Given the description of an element on the screen output the (x, y) to click on. 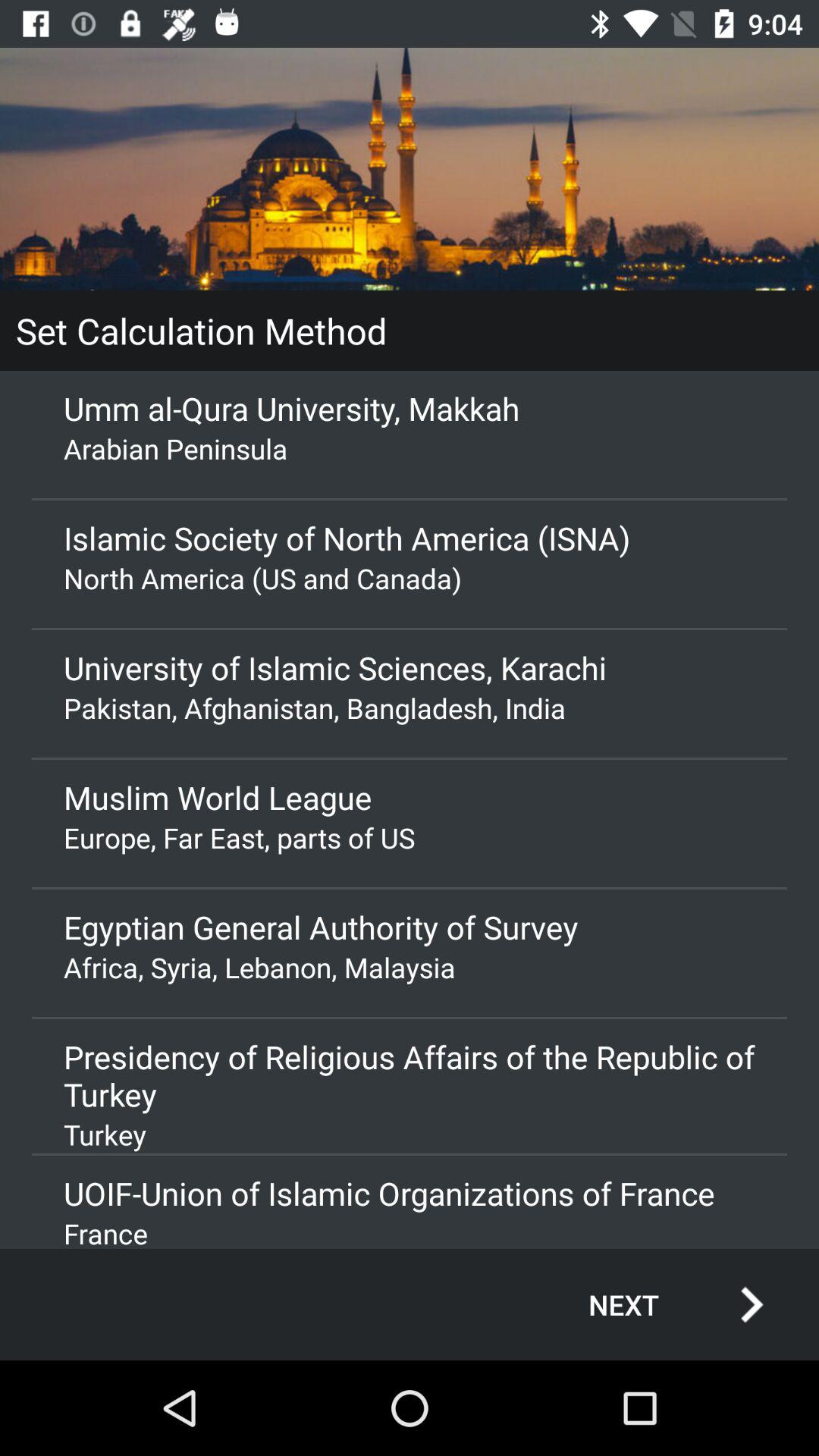
turn off the app below the umm al qura app (409, 448)
